Given the description of an element on the screen output the (x, y) to click on. 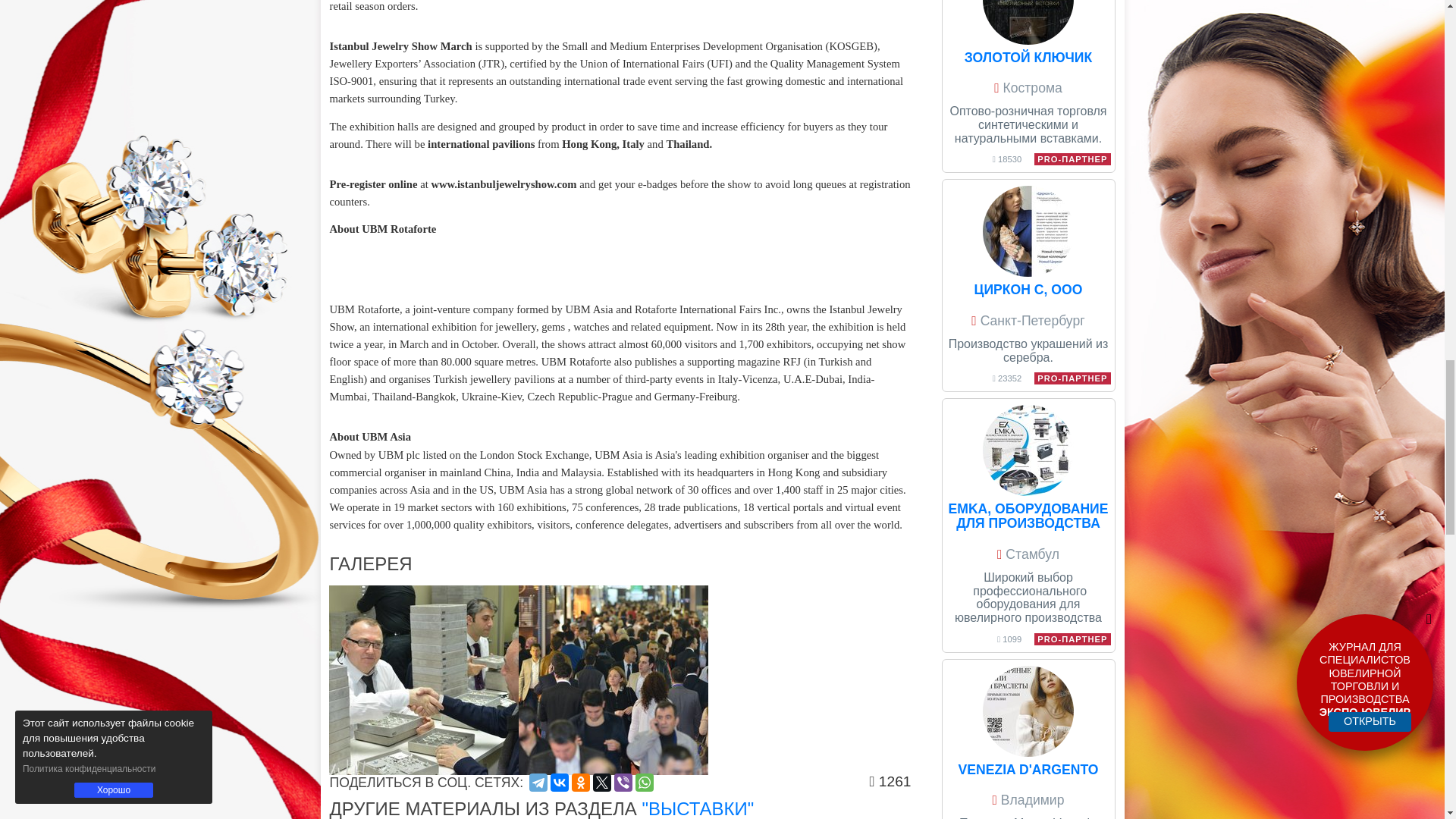
Twitter (601, 782)
WhatsApp (643, 782)
Telegram (538, 782)
Viber (622, 782)
Venezia d'argento (1028, 710)
